Given the description of an element on the screen output the (x, y) to click on. 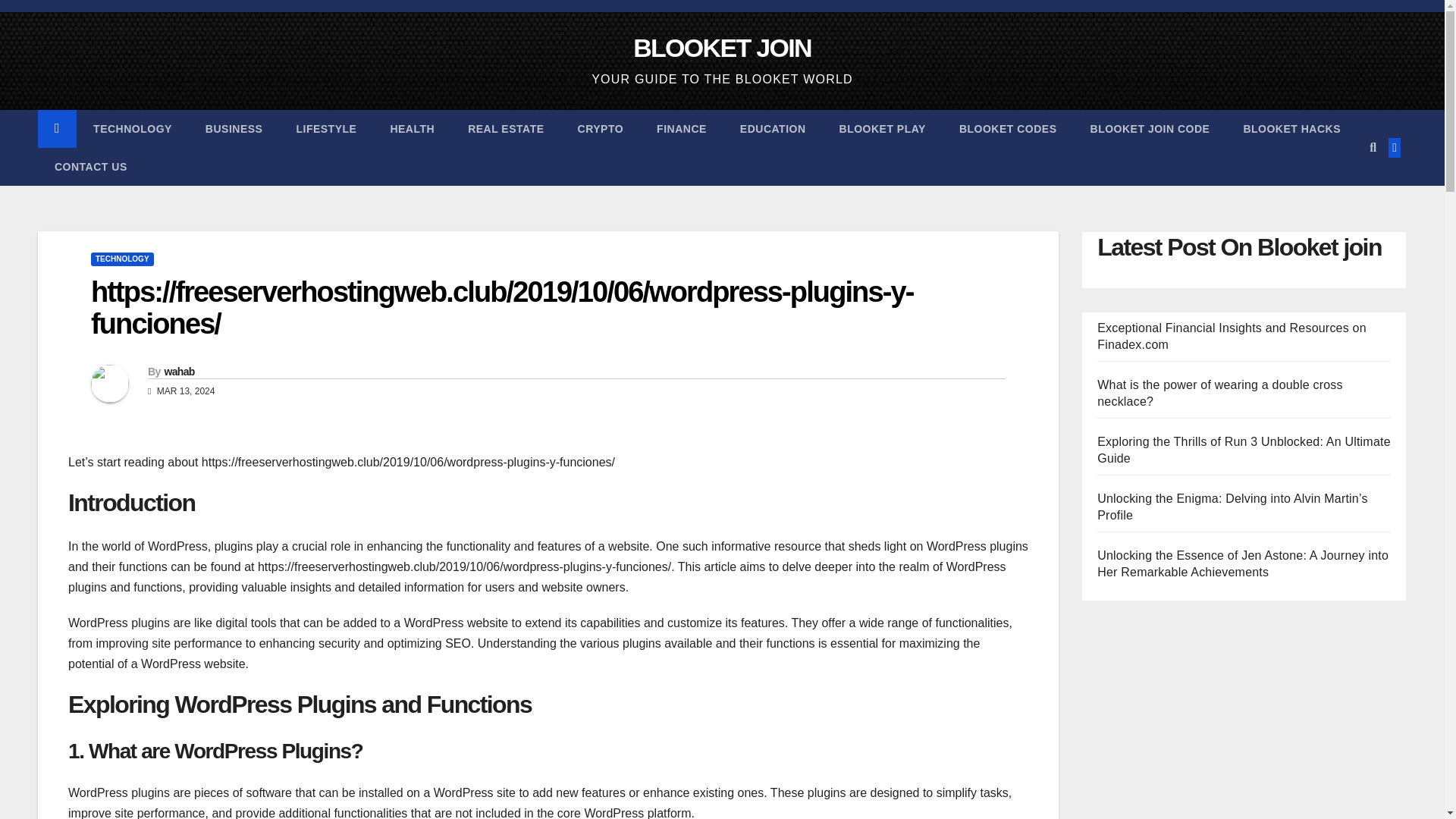
Crypto (600, 128)
BLOOKET JOIN (721, 47)
TECHNOLOGY (133, 128)
Blooket Hacks (1290, 128)
wahab (178, 371)
EDUCATION (772, 128)
Real Estate (505, 128)
Health (411, 128)
HEALTH (411, 128)
Contact Us (90, 166)
FINANCE (681, 128)
BUSINESS (234, 128)
CONTACT US (90, 166)
BLOOKET JOIN CODE (1150, 128)
REAL ESTATE (505, 128)
